Given the description of an element on the screen output the (x, y) to click on. 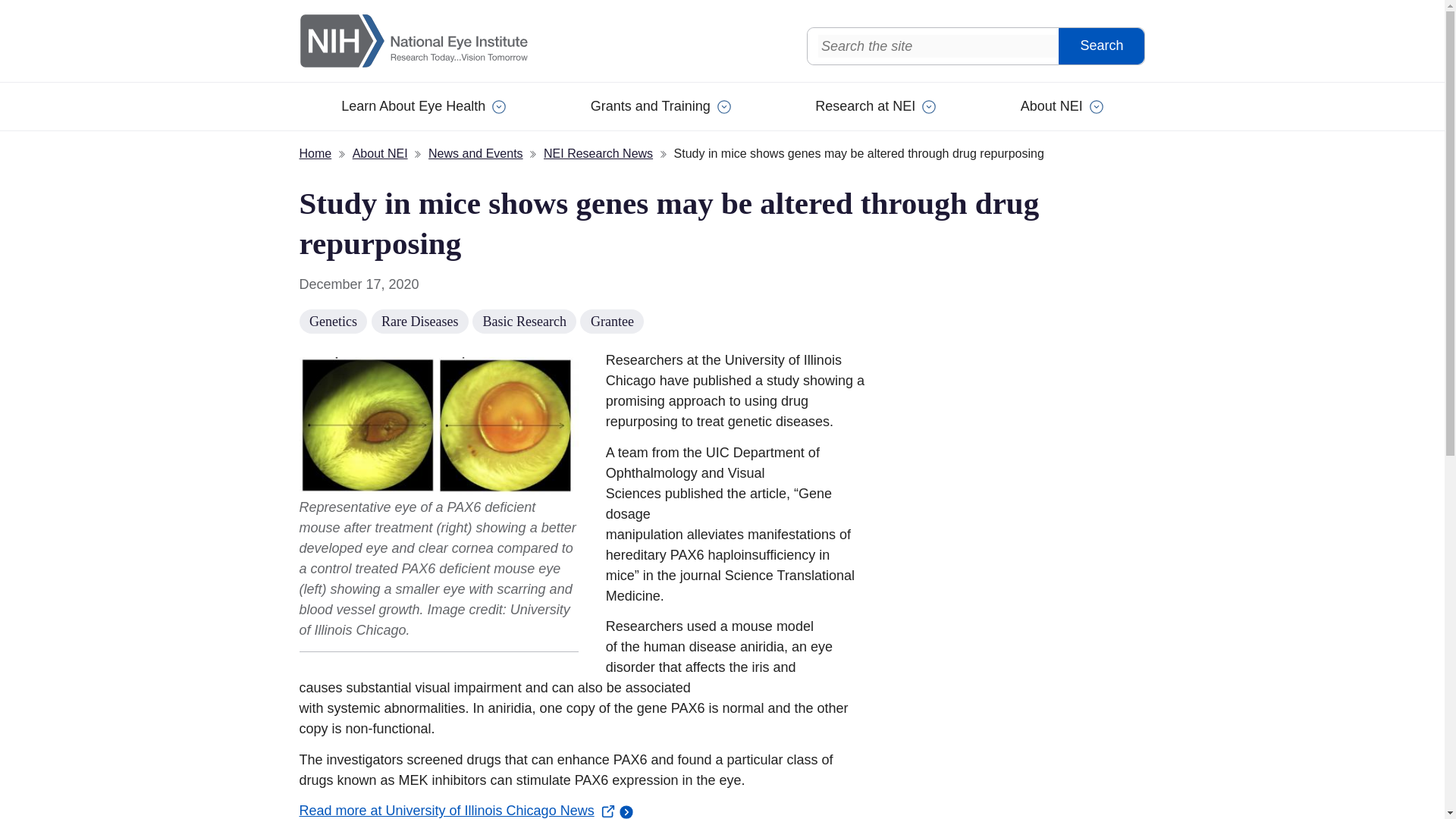
Learn About Eye Health (423, 106)
Search (1101, 45)
About NEI (1061, 106)
Home (435, 40)
Research at NEI (875, 106)
Grants and Training (660, 106)
Search (1101, 45)
